Given the description of an element on the screen output the (x, y) to click on. 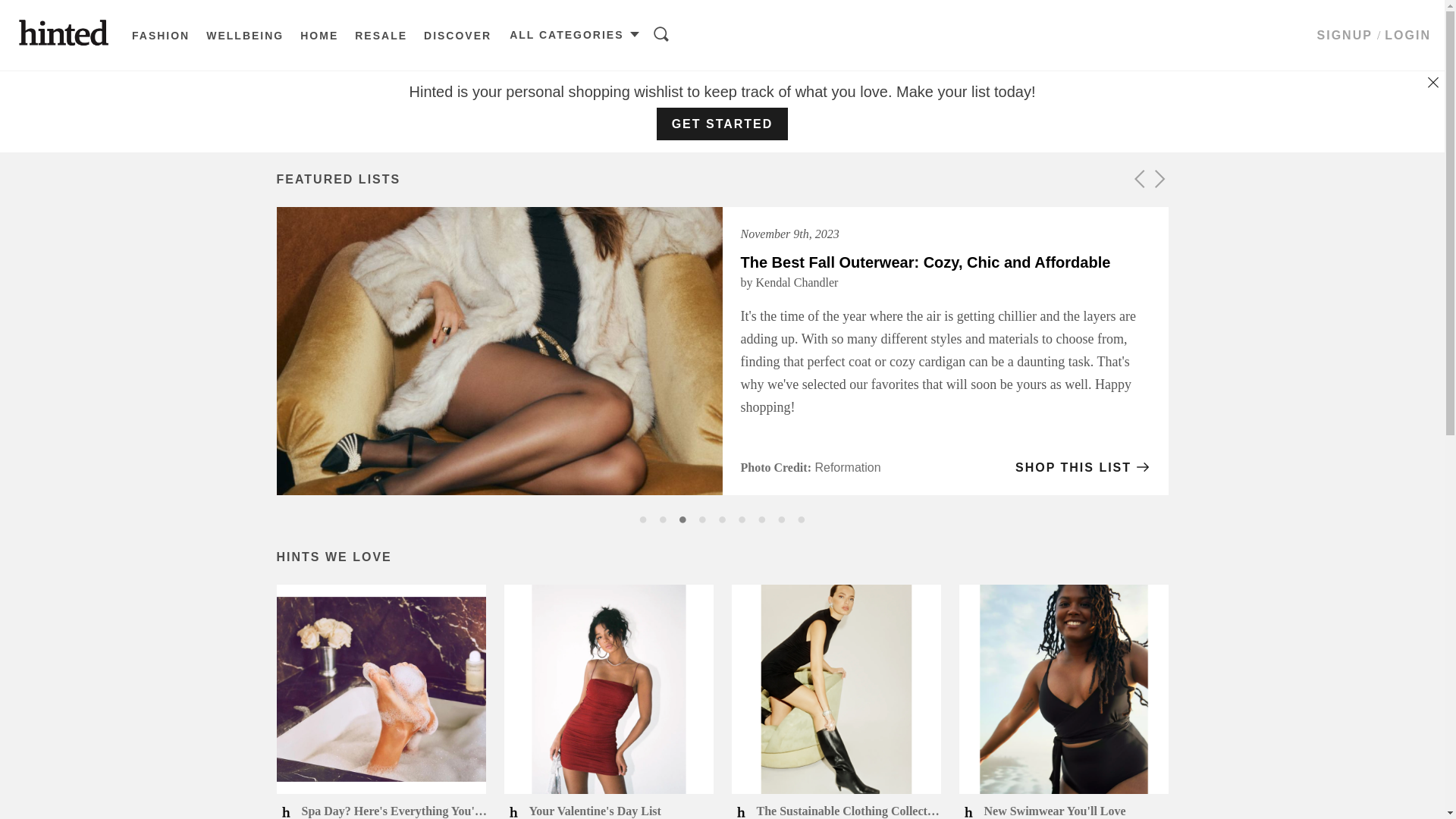
HOME Element type: text (319, 35)
DISCOVER Element type: text (457, 35)
Dismiss Element type: text (1435, 81)
LOGIN Element type: text (1407, 34)
WELLBEING Element type: text (244, 35)
SHOP THIS LIST Element type: text (1082, 467)
SIGNUP Element type: text (1344, 34)
FASHION Element type: text (160, 35)
GET STARTED Element type: text (722, 123)
RESALE Element type: text (380, 35)
